Given the description of an element on the screen output the (x, y) to click on. 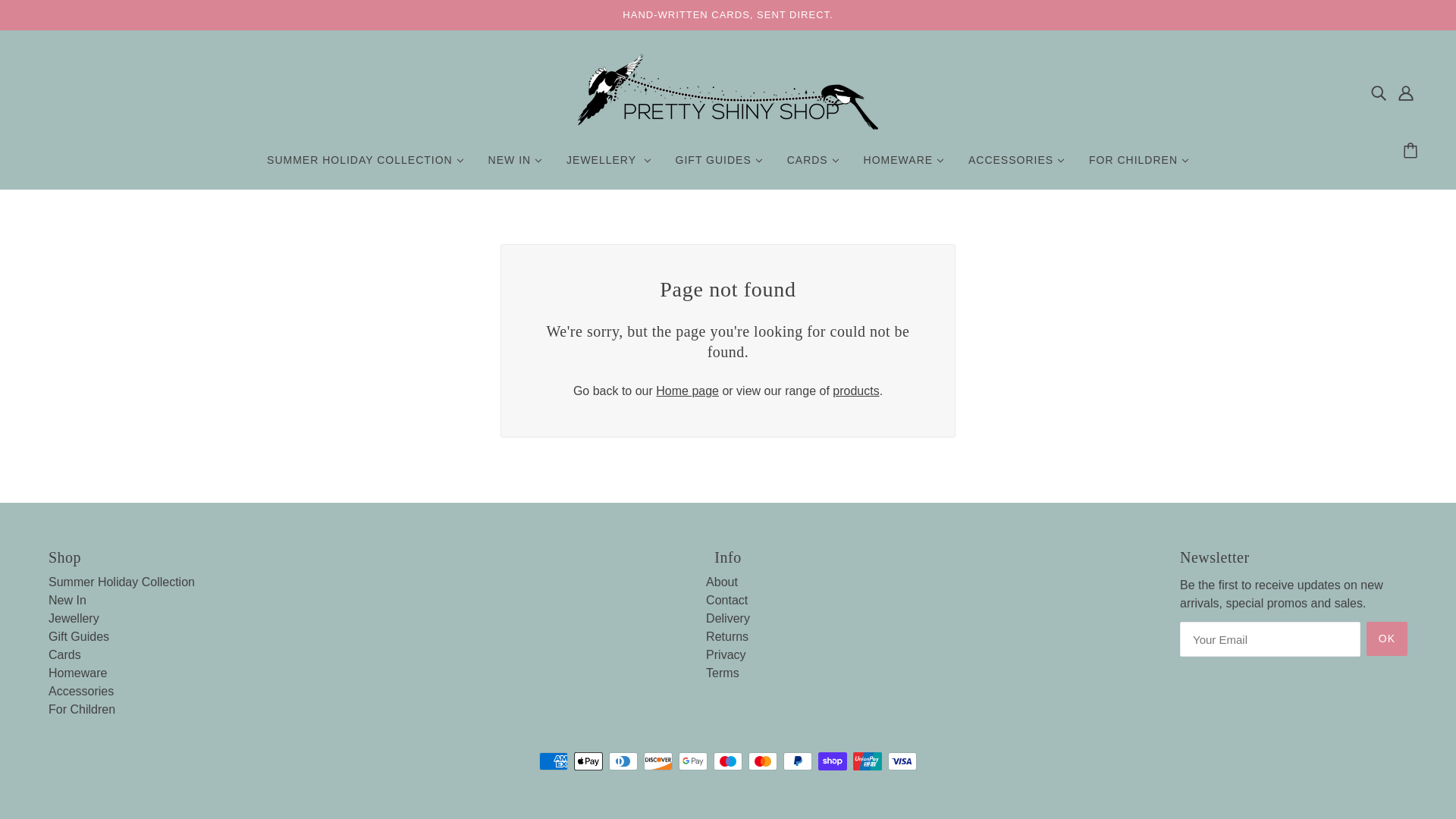
For Children (81, 708)
NEW IN  (515, 165)
Privacy (725, 654)
GIFT GUIDES  (718, 165)
Accessories (80, 690)
New In (66, 599)
About (722, 581)
Pretty Shiny Shop (727, 124)
SUMMER HOLIDAY COLLECTION  (365, 165)
Cards (64, 654)
